Given the description of an element on the screen output the (x, y) to click on. 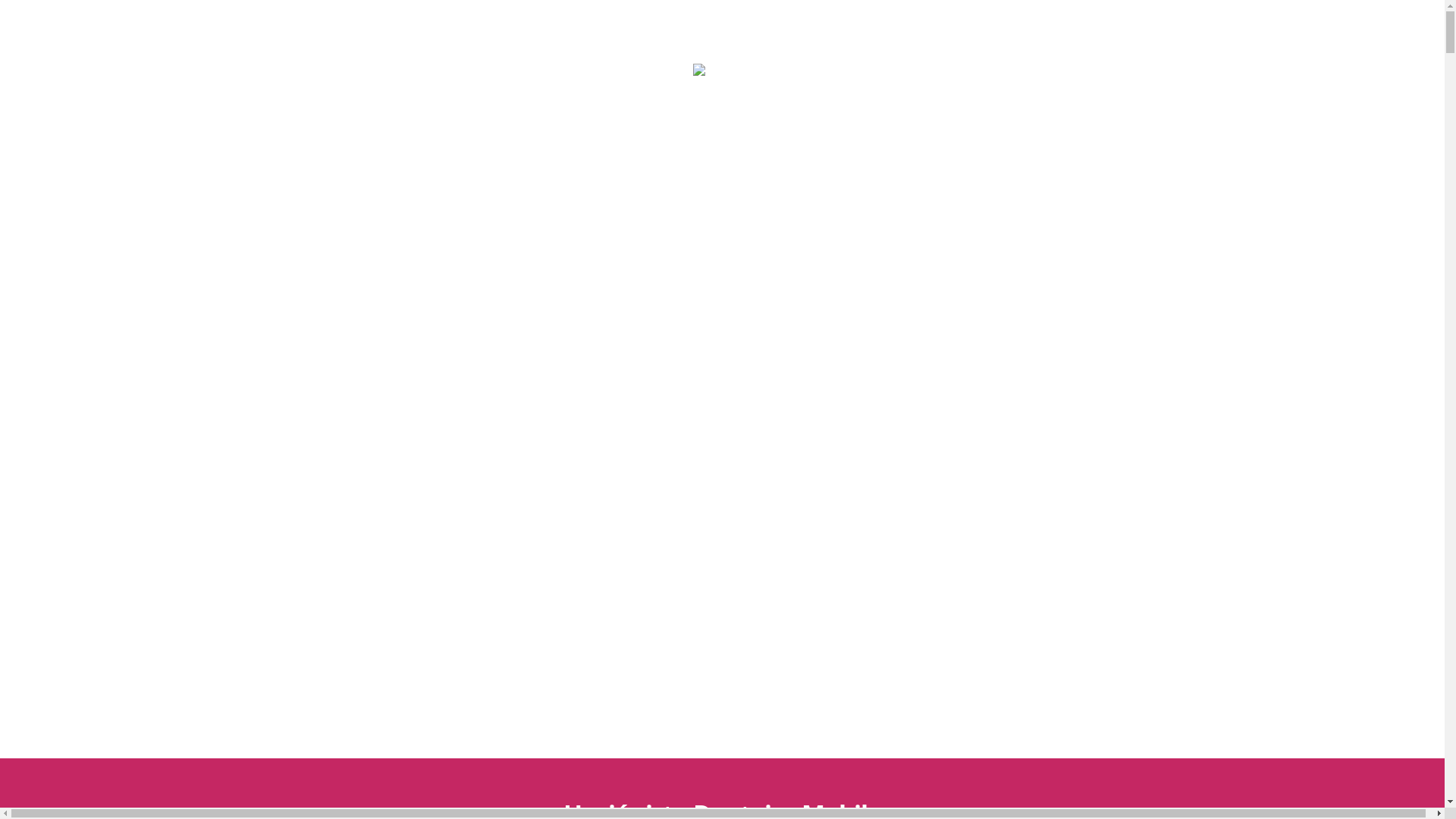
SERVICES Element type: text (570, 176)
Belle Bouche Bonnes Dents Element type: hover (723, 176)
HUMANITAIRE Element type: text (892, 176)
ACCUEIL Element type: text (501, 176)
CONTACT Element type: text (980, 176)
